Given the description of an element on the screen output the (x, y) to click on. 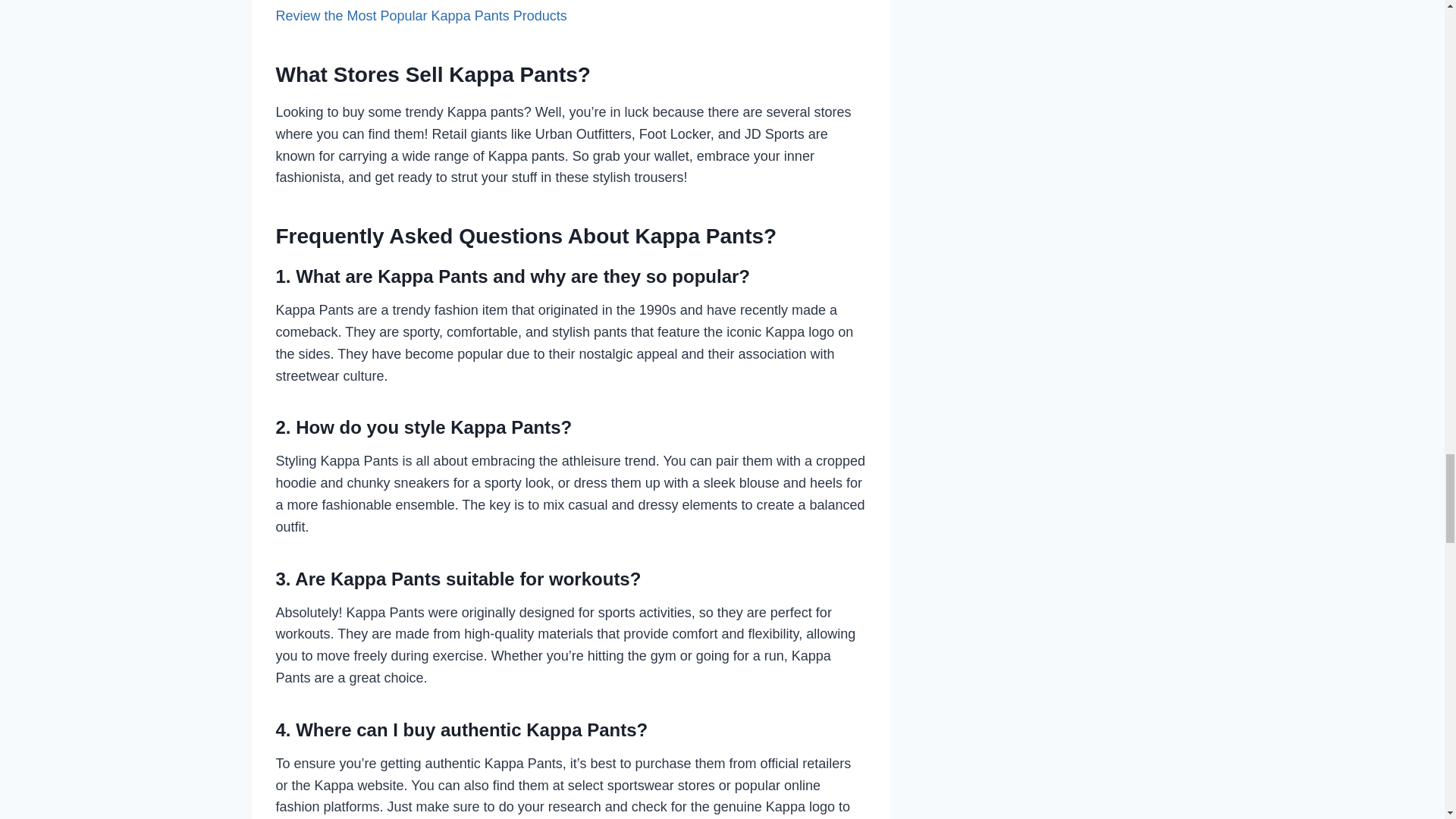
Review the Most Popular Kappa Pants Products (421, 15)
